Given the description of an element on the screen output the (x, y) to click on. 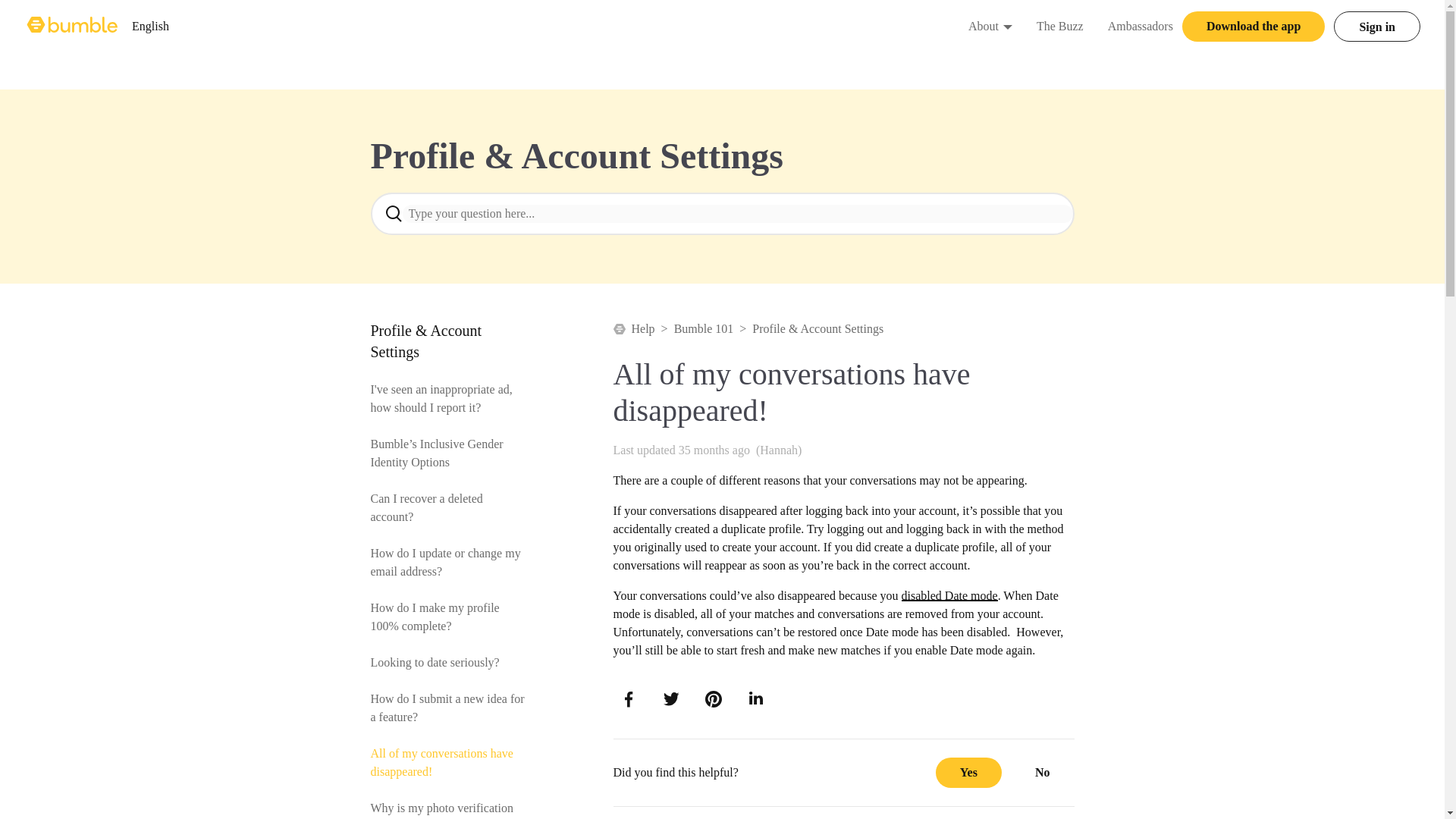
Download the app (1253, 26)
The Buzz (1059, 26)
Expand About (1007, 26)
About (983, 26)
Bumble homepage (72, 25)
Ambassadors (1140, 26)
